Given the description of an element on the screen output the (x, y) to click on. 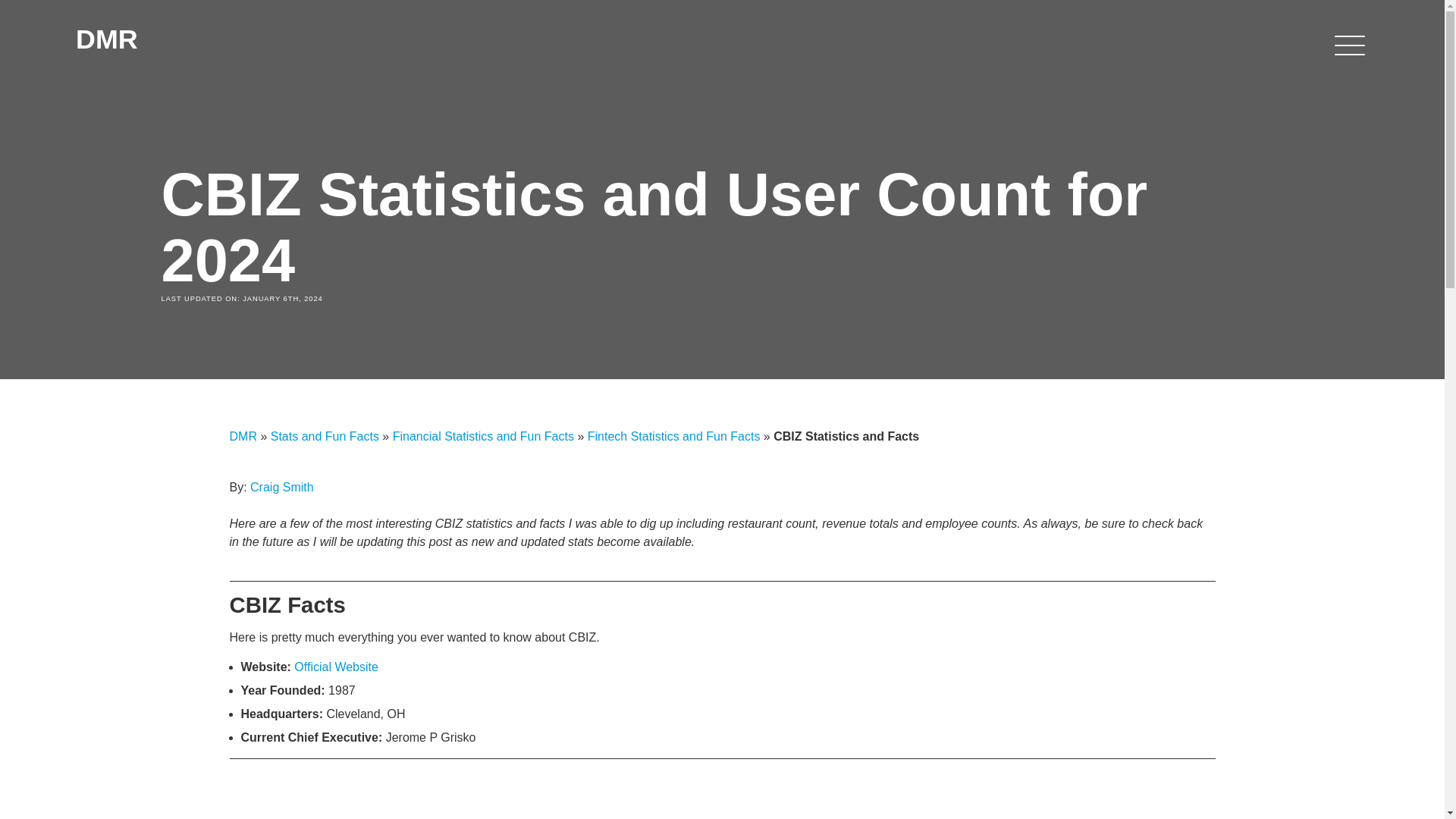
DMR (242, 436)
DMR (181, 45)
Craig Smith (282, 486)
Fintech Statistics and Fun Facts (674, 436)
Official Website (336, 666)
Financial Statistics and Fun Facts (483, 436)
Menu (1349, 45)
Stats and Fun Facts (324, 436)
